Given the description of an element on the screen output the (x, y) to click on. 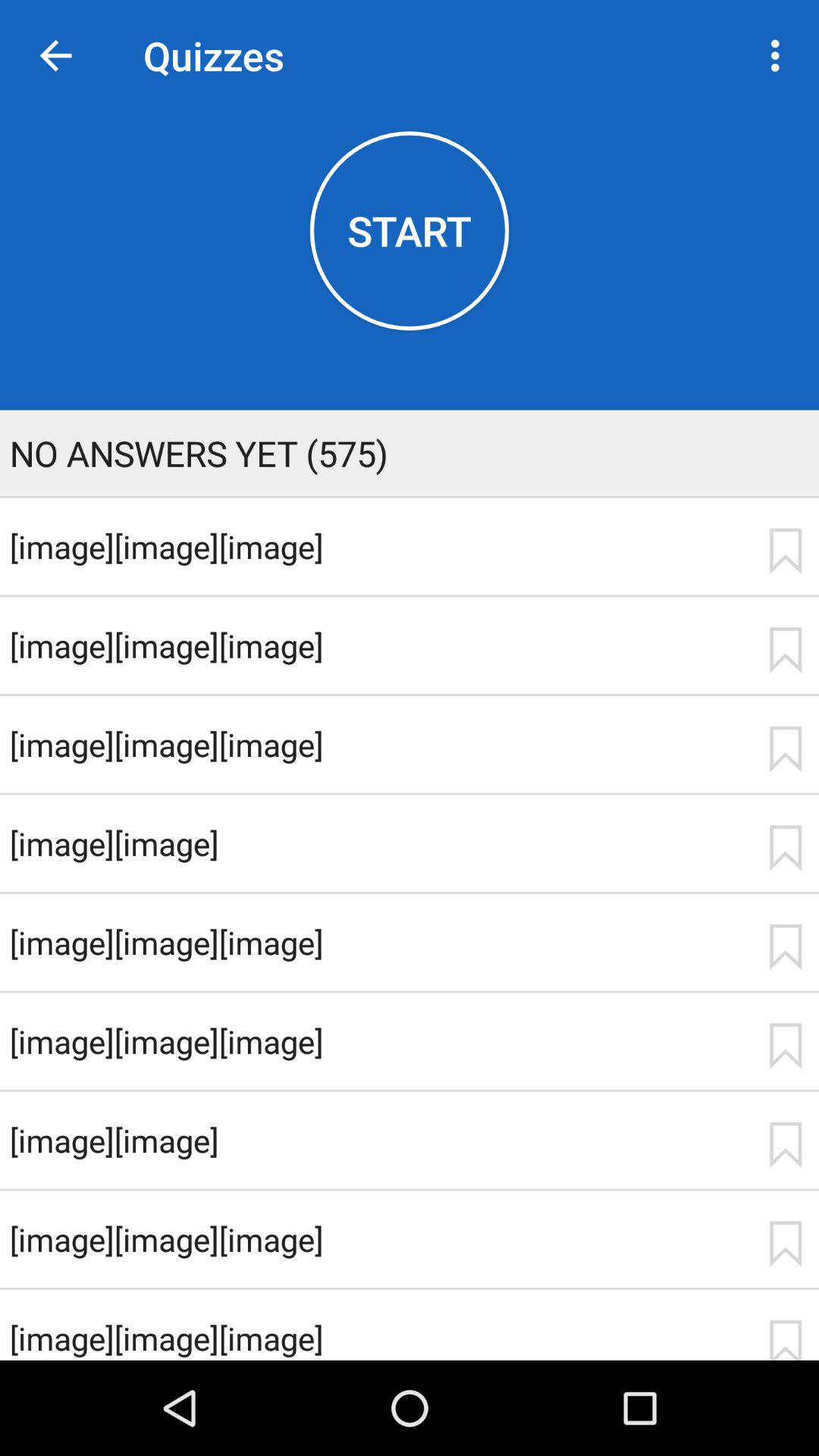
press the item above no answers yet app (409, 230)
